Given the description of an element on the screen output the (x, y) to click on. 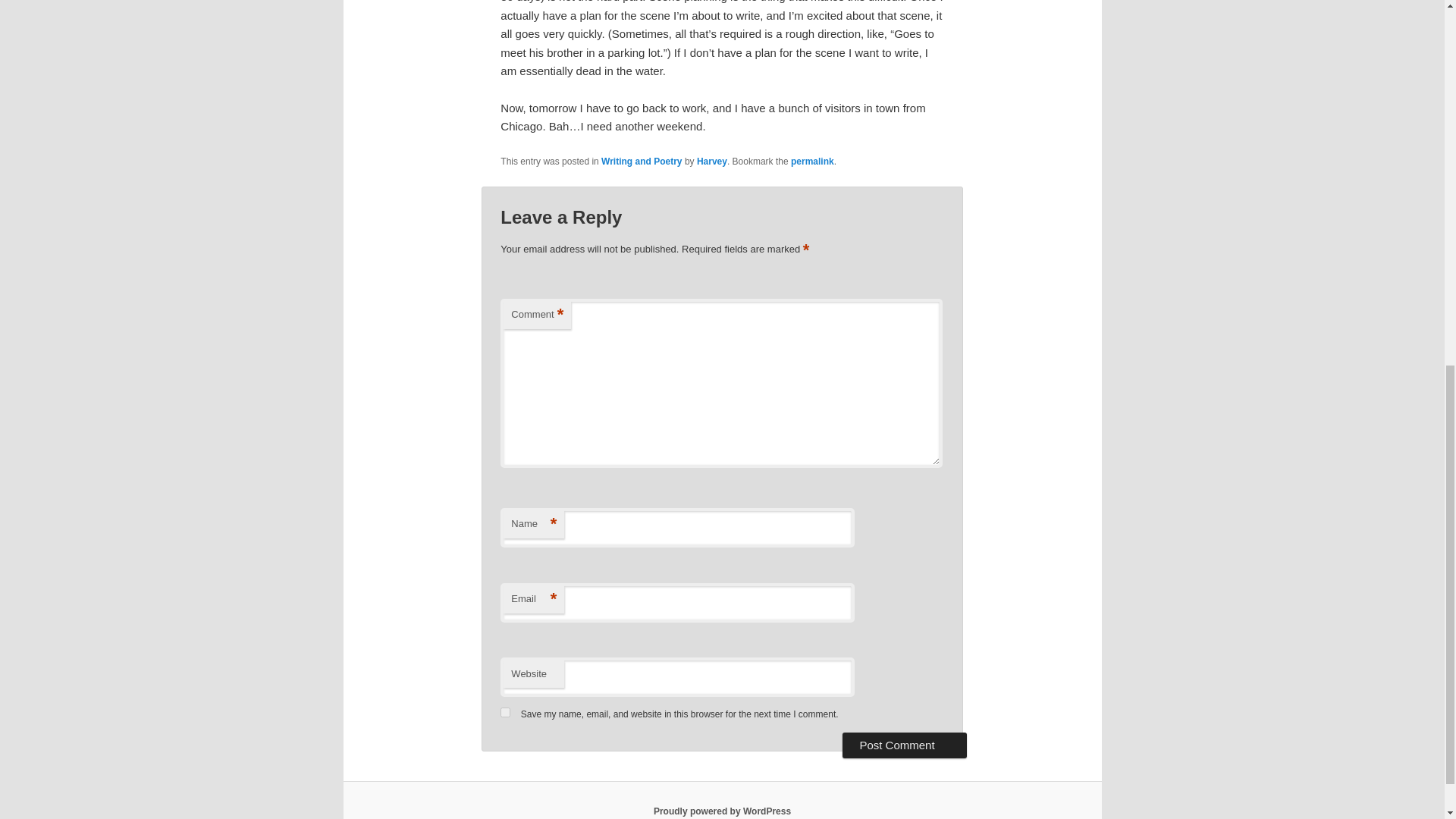
Semantic Personal Publishing Platform (721, 810)
Post Comment (904, 745)
Permalink to Catching Up (812, 161)
yes (505, 712)
